Given the description of an element on the screen output the (x, y) to click on. 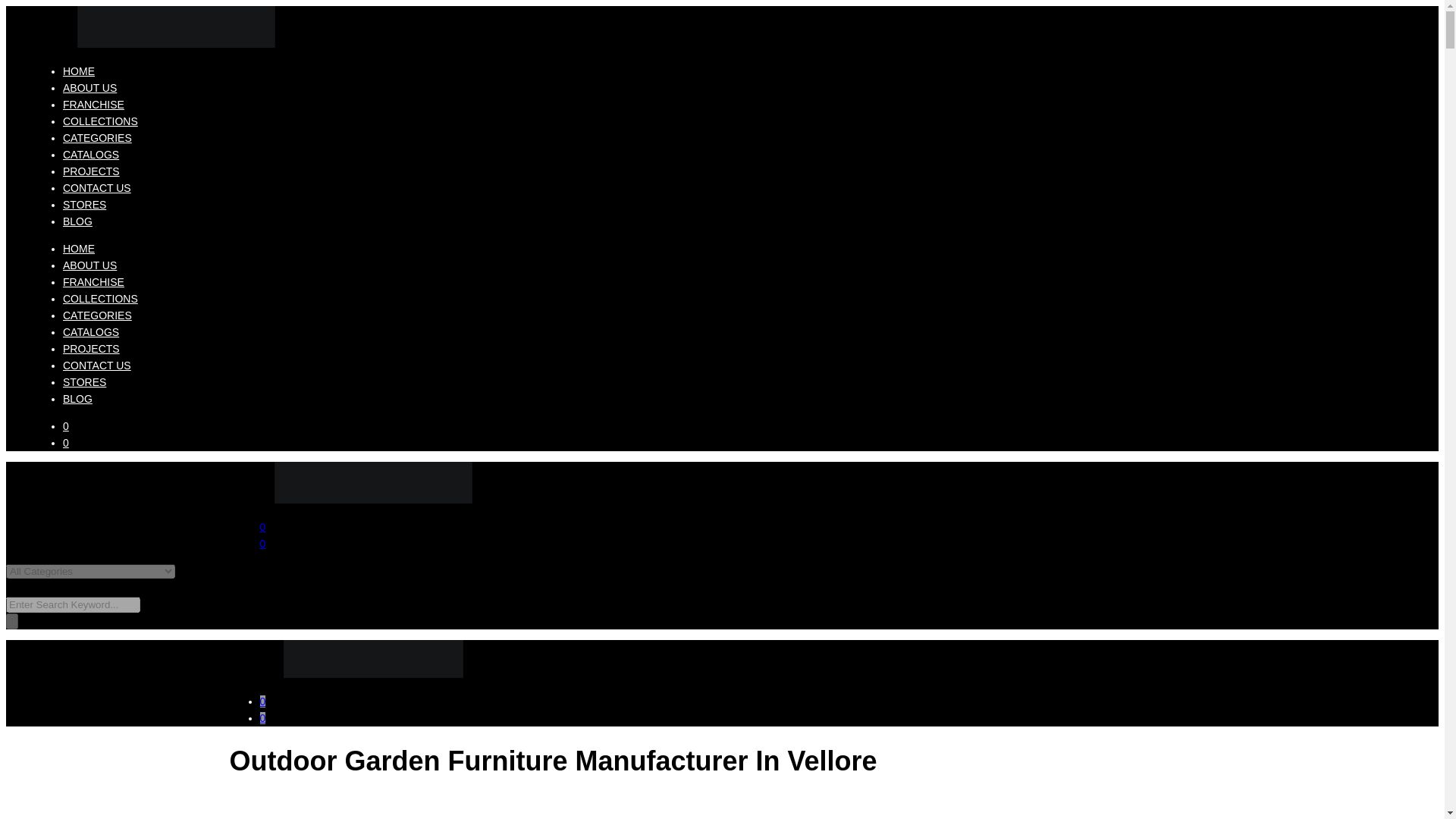
BLOG (77, 398)
ABOUT US (89, 265)
HOME (78, 248)
CATEGORIES (97, 137)
PROJECTS (90, 348)
STORES (84, 381)
CATEGORIES (97, 315)
FRANCHISE (92, 104)
ABOUT US (89, 87)
HOME (78, 70)
CONTACT US (96, 365)
PROJECTS (90, 171)
CATALOGS (90, 331)
BLOG (77, 221)
FRANCHISE (92, 282)
